Given the description of an element on the screen output the (x, y) to click on. 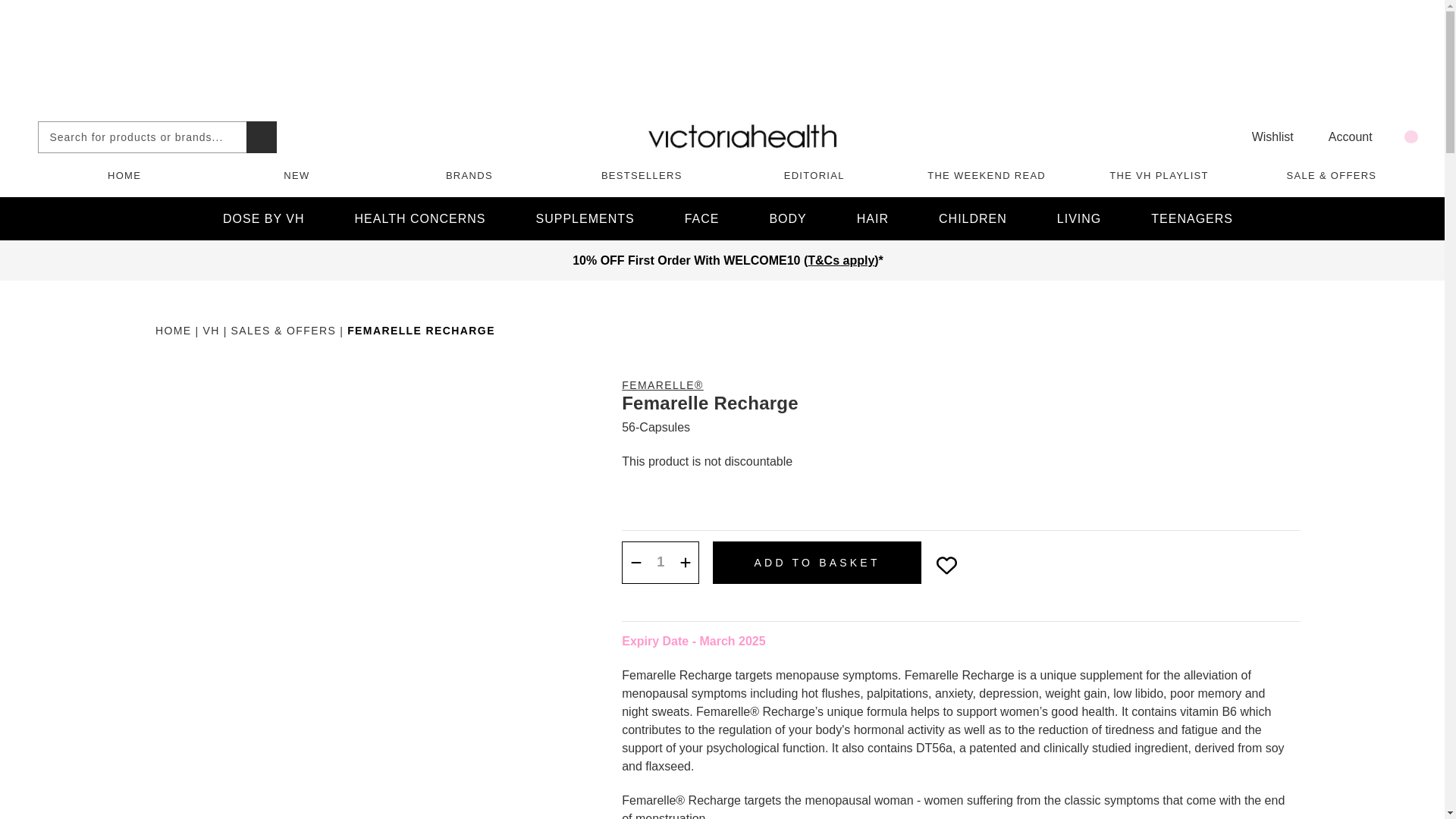
HOME (124, 174)
FACE (701, 218)
BODY (787, 218)
Search for products or brands... (261, 137)
Wishlist (1262, 136)
The weekend read (986, 174)
The vh playlist (1158, 174)
HEALTH CONCERNS (420, 218)
THE WEEKEND READ (986, 174)
1 (660, 562)
